Given the description of an element on the screen output the (x, y) to click on. 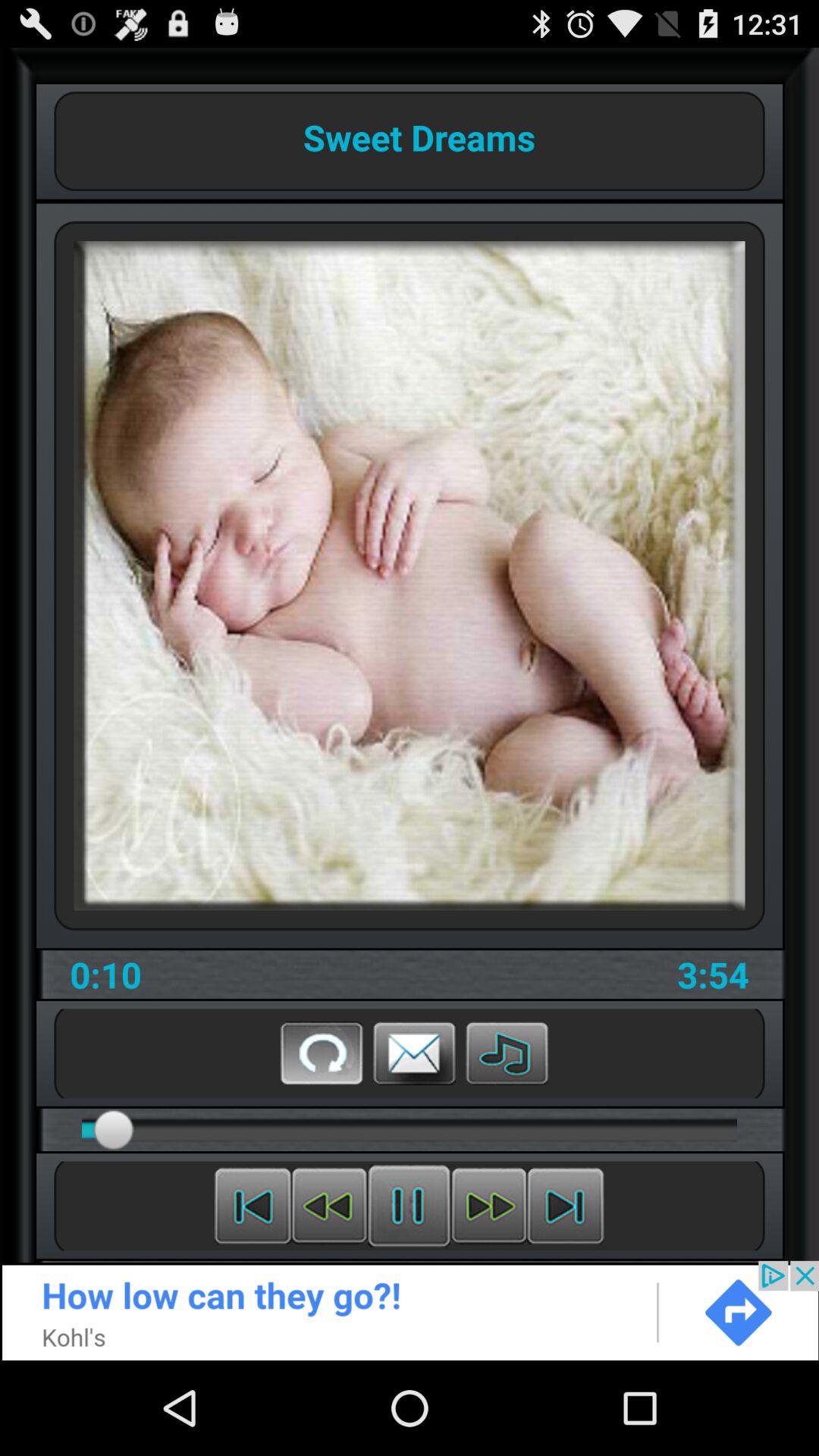
fast forward (488, 1205)
